Given the description of an element on the screen output the (x, y) to click on. 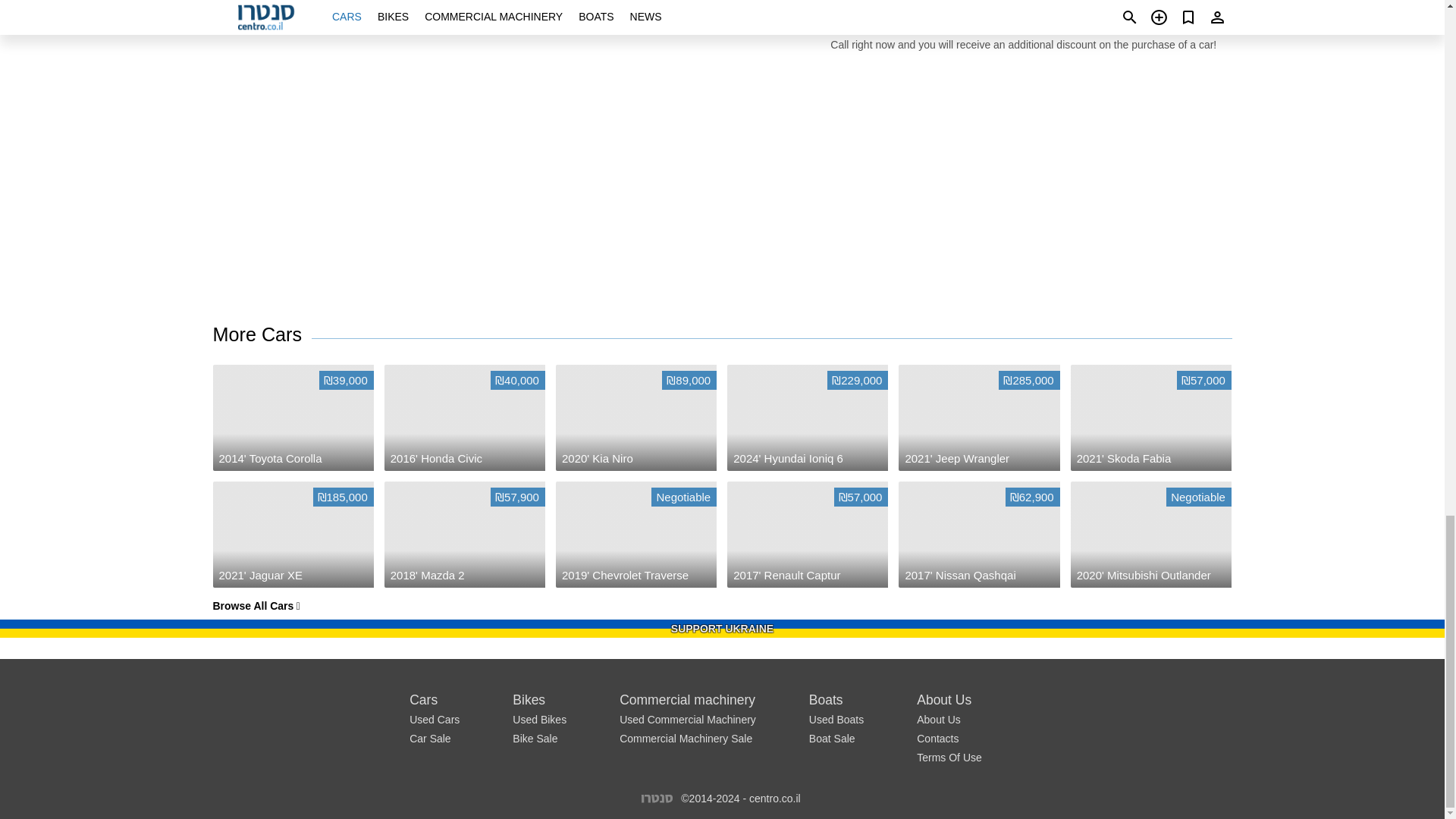
Used Commercial Machinery (687, 719)
Used Boats (1150, 534)
Browse All Cars (836, 719)
Used Bikes (636, 534)
Car Sale (255, 605)
centro.co.il - Israel (539, 719)
Bike Sale (429, 738)
Commercial Machinery Sale (657, 797)
More Cars (534, 738)
Boat Sale (686, 738)
Used Cars (261, 335)
About Us (832, 738)
